Given the description of an element on the screen output the (x, y) to click on. 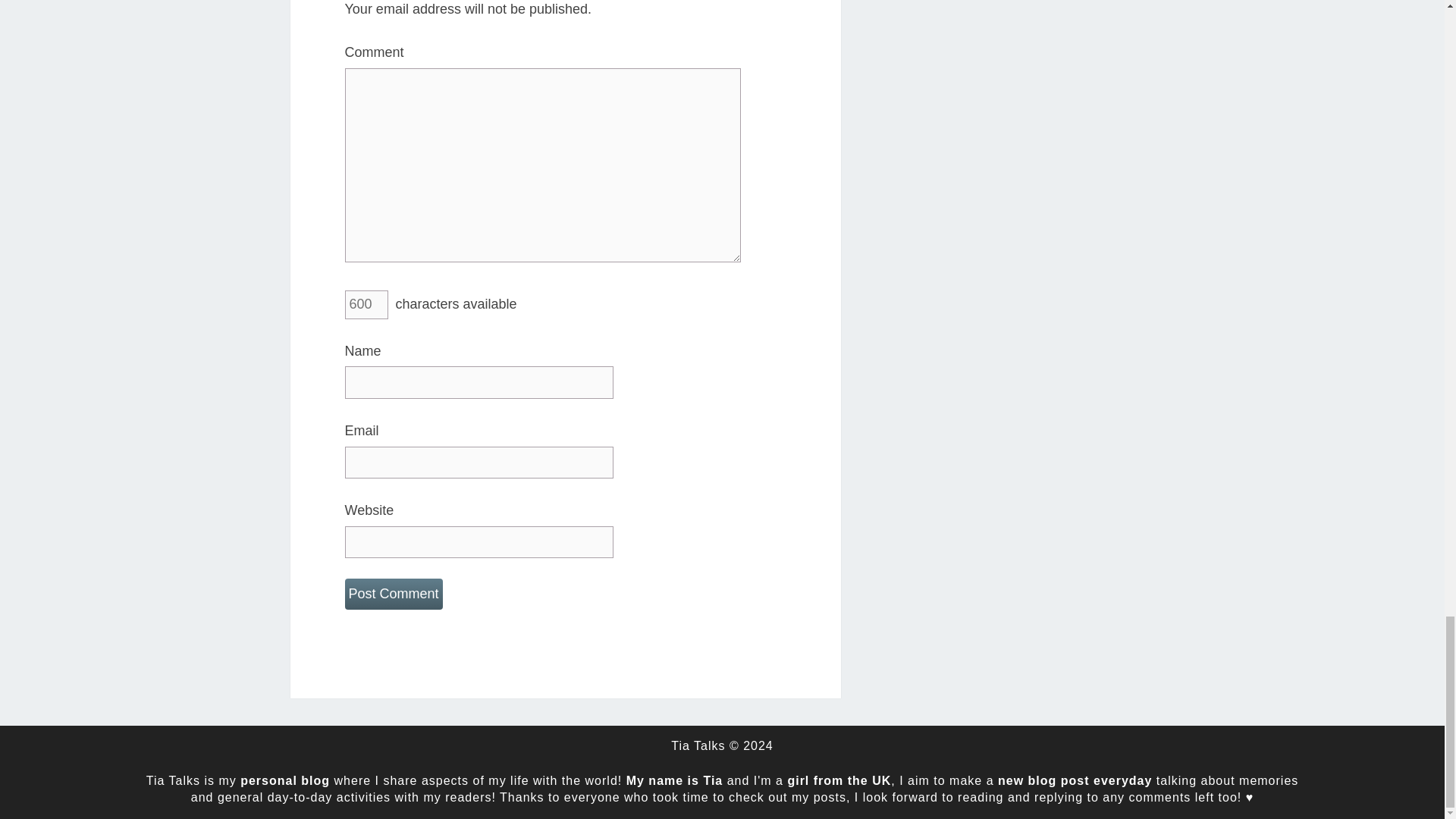
Post Comment (392, 593)
Post Comment (392, 593)
600 (365, 304)
